Given the description of an element on the screen output the (x, y) to click on. 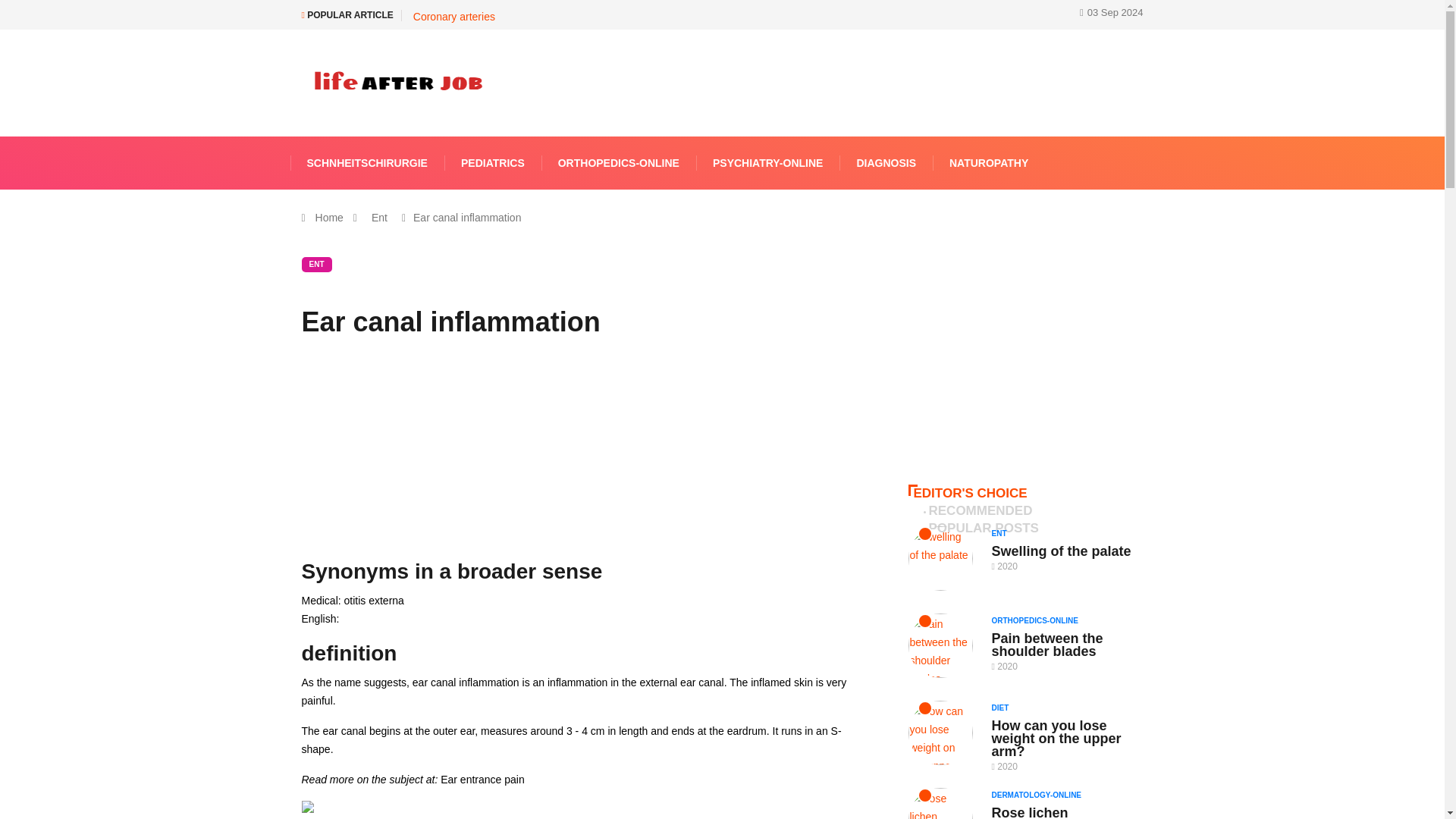
DIAGNOSIS (886, 162)
Coronary arteries (454, 16)
PEDIATRICS (492, 162)
PSYCHIATRY-ONLINE (767, 162)
Swelling of the palate (1061, 550)
POPULAR POSTS (983, 528)
ORTHOPEDICS-ONLINE (618, 162)
Home (329, 217)
ENT (316, 264)
SCHNHEITSCHIRURGIE (366, 162)
